Given the description of an element on the screen output the (x, y) to click on. 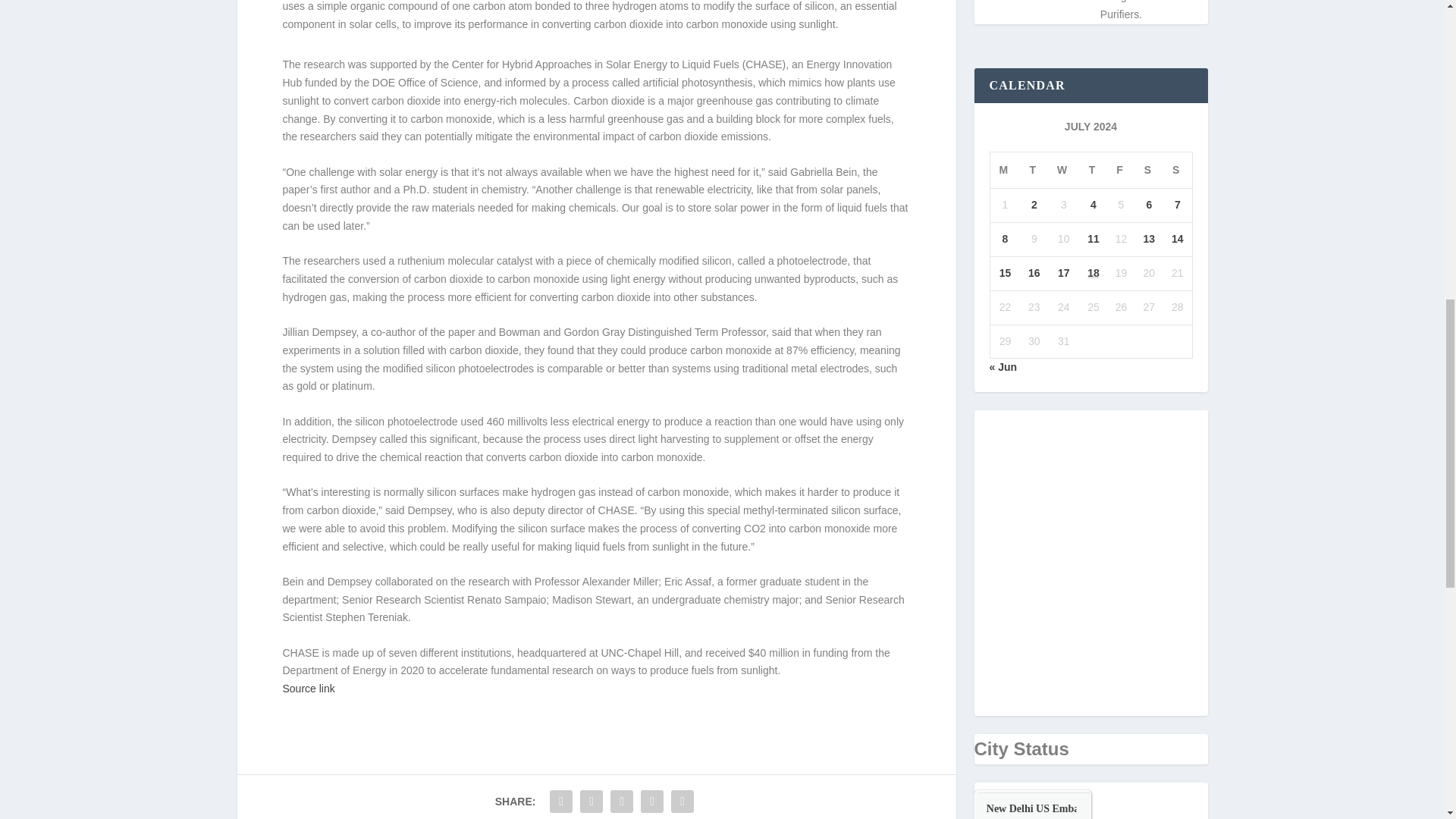
Source link (308, 688)
